Given the description of an element on the screen output the (x, y) to click on. 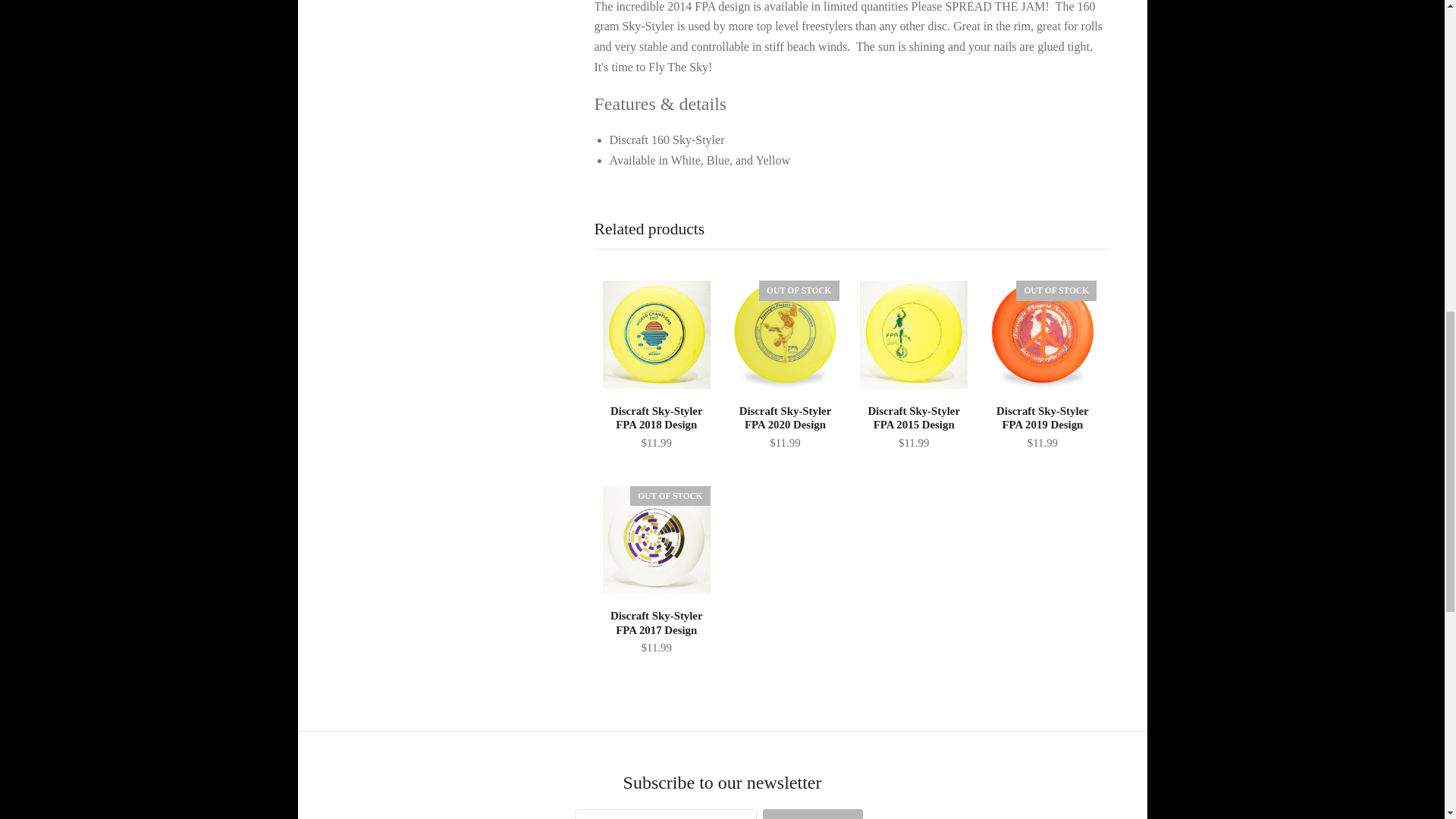
Discraft Sky-Styler FPA 2019 Design (1042, 428)
Discraft Sky-Styler FPA 2015 Design (913, 333)
Discraft Sky-Styler FPA 2018 Design (656, 428)
Subscribe (812, 814)
Discraft Sky-Styler FPA 2017 Design (656, 633)
Discraft Sky-Styler FPA 2015 Design (913, 428)
Discraft Sky-Styler FPA 2020 Design (784, 428)
Discraft Sky-Styler FPA 2020 Design (784, 333)
Discraft Sky-Styler FPA 2017 Design (656, 539)
Discraft Sky-Styler FPA 2018 Design (656, 333)
Discraft Sky-Styler FPA 2019 Design (1042, 333)
